Given the description of an element on the screen output the (x, y) to click on. 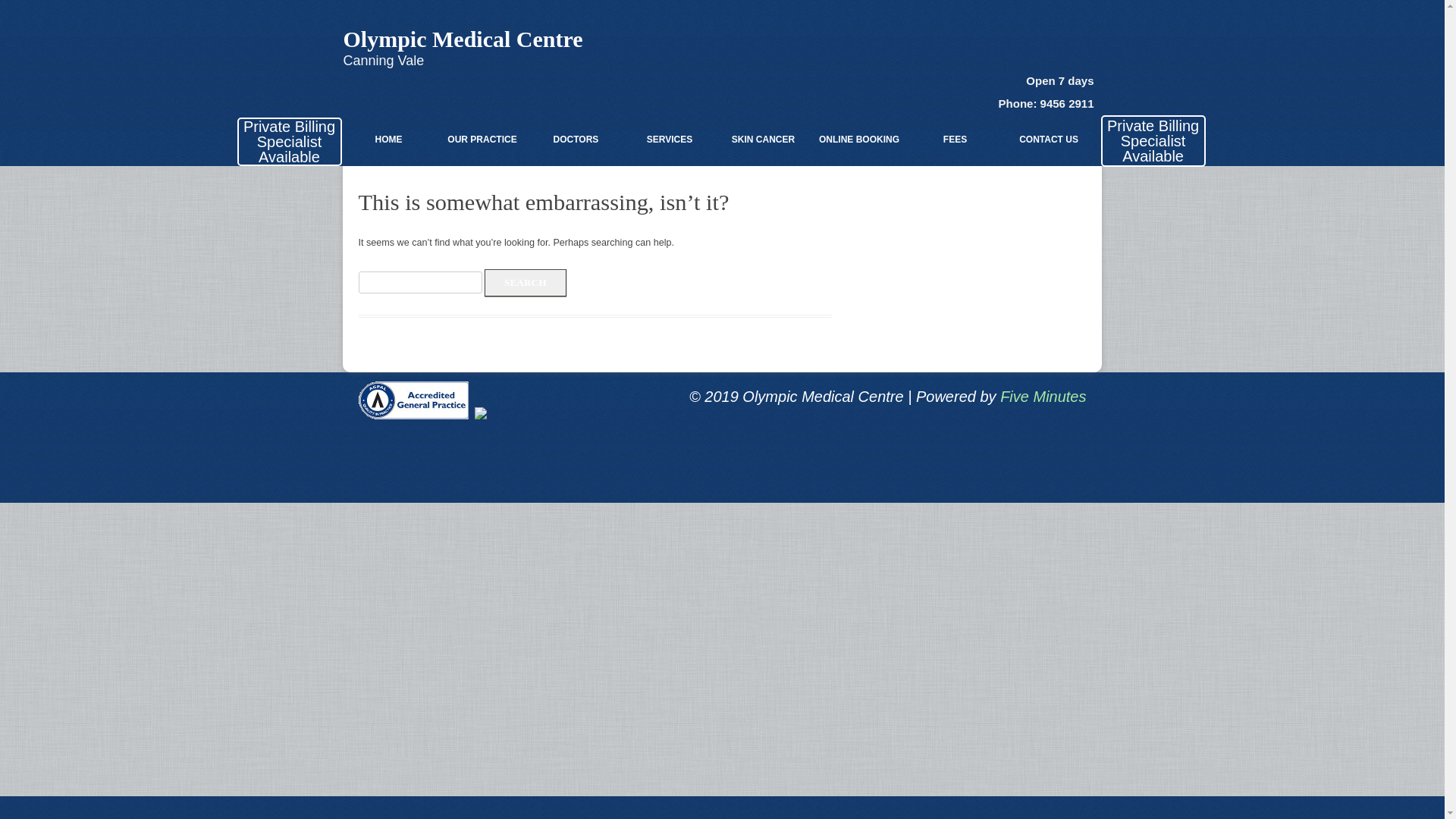
Five Minutes Element type: text (1042, 396)
OUR PRACTICE Element type: text (481, 139)
SKIN CANCER Element type: text (762, 139)
ONLINE BOOKING Element type: text (859, 139)
Private Billing Specialist Available Element type: text (289, 141)
DOCTORS Element type: text (576, 139)
SERVICES Element type: text (669, 139)
Private Billing Specialist Available Element type: text (1152, 140)
Olympic Medical Centre Element type: text (462, 38)
HOME Element type: text (387, 139)
Skip to content Element type: text (702, 92)
FEES Element type: text (954, 139)
CONTACT US Element type: text (1048, 139)
Search Element type: text (525, 282)
